Given the description of an element on the screen output the (x, y) to click on. 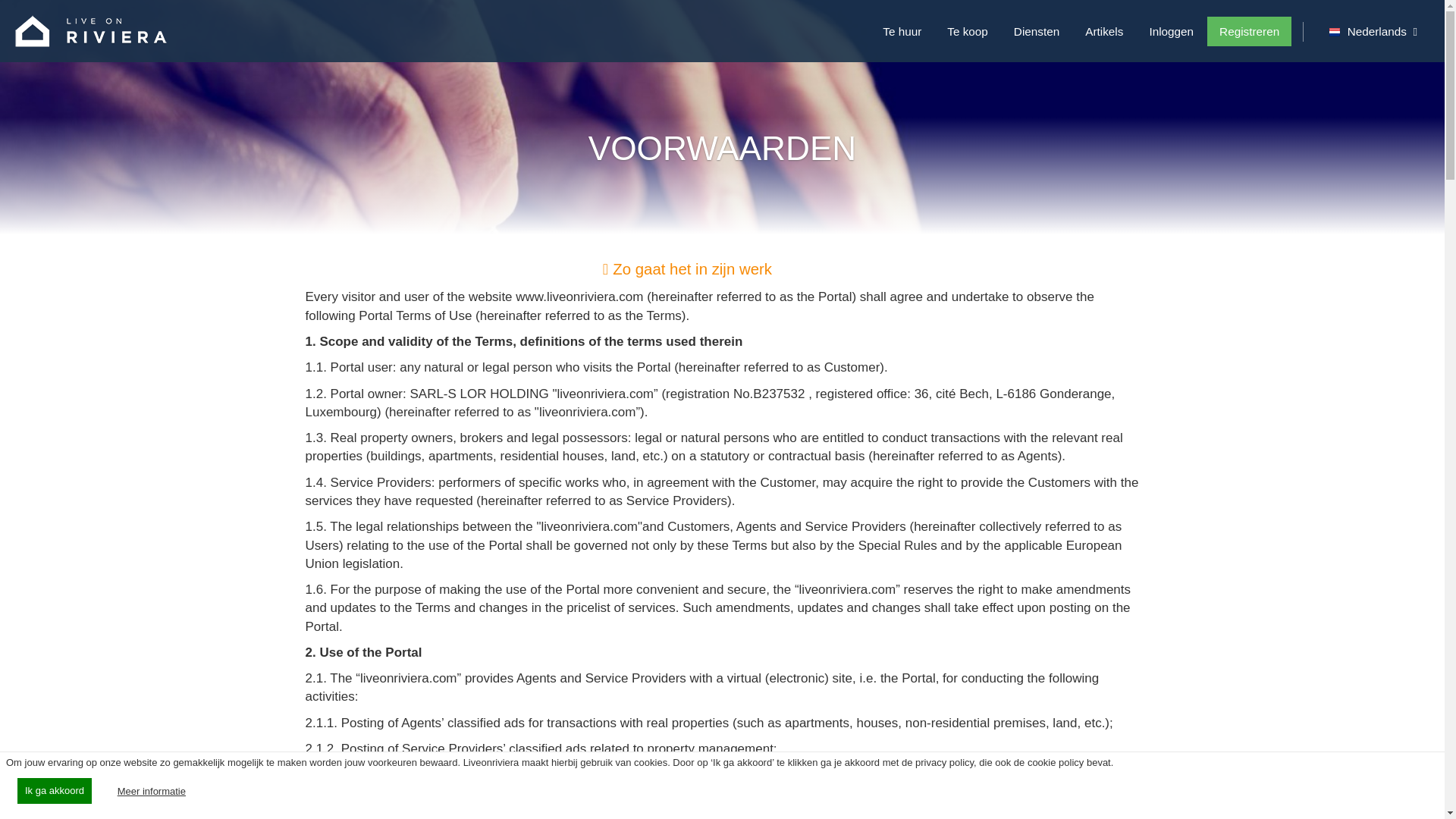
Inloggen (1171, 30)
 Nederlands  (1372, 30)
Te huur (901, 30)
Vakantiewoningen te huur (901, 30)
Woningen te koop (967, 30)
Zo gaat het in zijn werk (687, 269)
Registreren (1249, 30)
Te koop (967, 30)
Diensten (1036, 30)
De hotspot voor internationaal vastgoed nederlands (1333, 32)
